Given the description of an element on the screen output the (x, y) to click on. 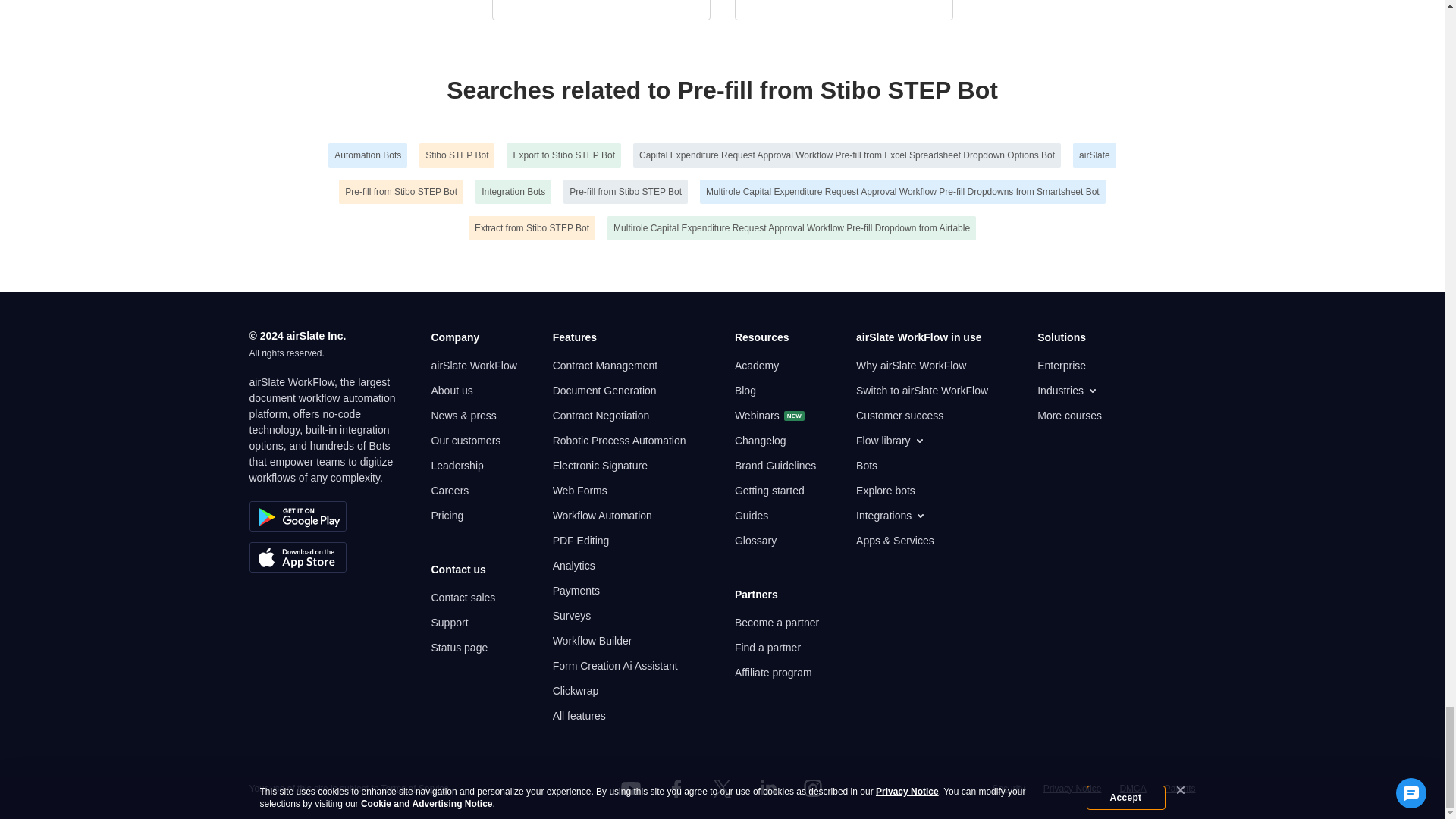
YouTube (630, 788)
LinkedIn (767, 788)
Facebook (676, 788)
Twitter (721, 788)
Instagram (812, 788)
